Given the description of an element on the screen output the (x, y) to click on. 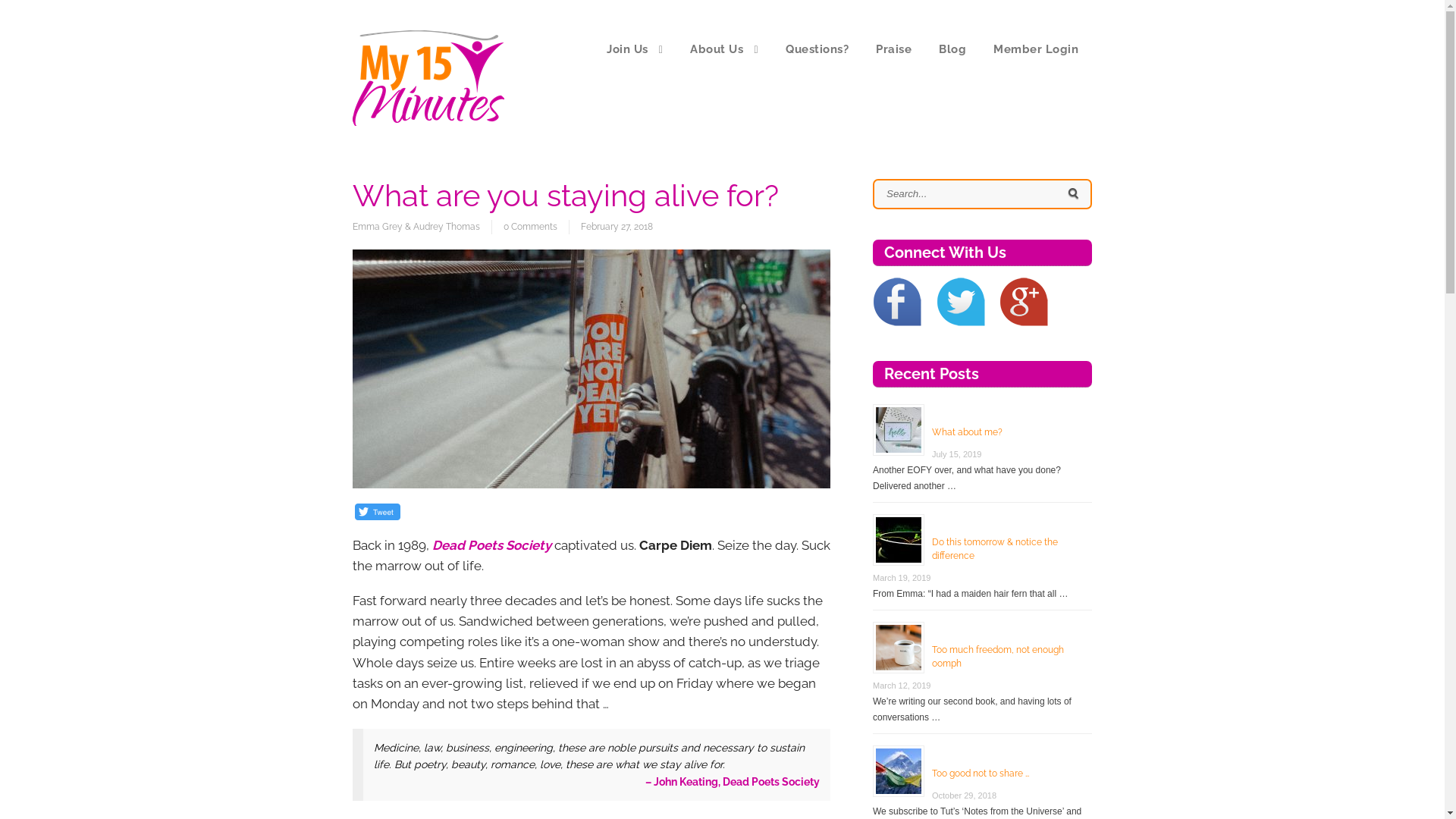
Emma Grey & Audrey Thomas Element type: text (421, 226)
Search Element type: text (1073, 194)
What about me? Element type: text (966, 431)
Praise Element type: text (893, 49)
0 Comments Element type: text (529, 226)
Too much freedom, not enough oomph Element type: text (997, 656)
My 15 Minutes Element type: hover (428, 122)
Join Us Element type: text (634, 49)
Questions? Element type: text (816, 49)
Member Login Element type: text (1035, 49)
About Us Element type: text (723, 49)
Do this tomorrow & notice the difference Element type: text (994, 548)
Blog Element type: text (952, 49)
